Given the description of an element on the screen output the (x, y) to click on. 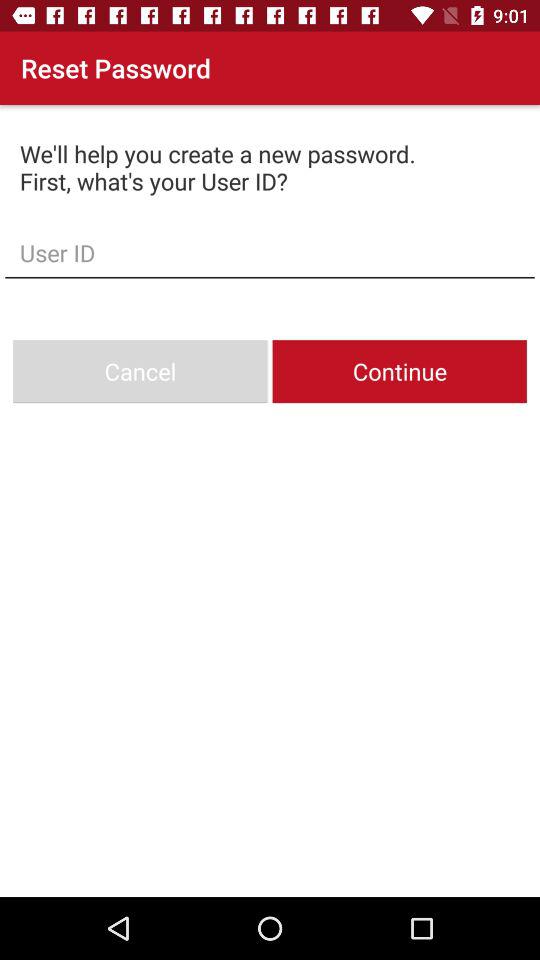
open item below we ll help icon (270, 252)
